Given the description of an element on the screen output the (x, y) to click on. 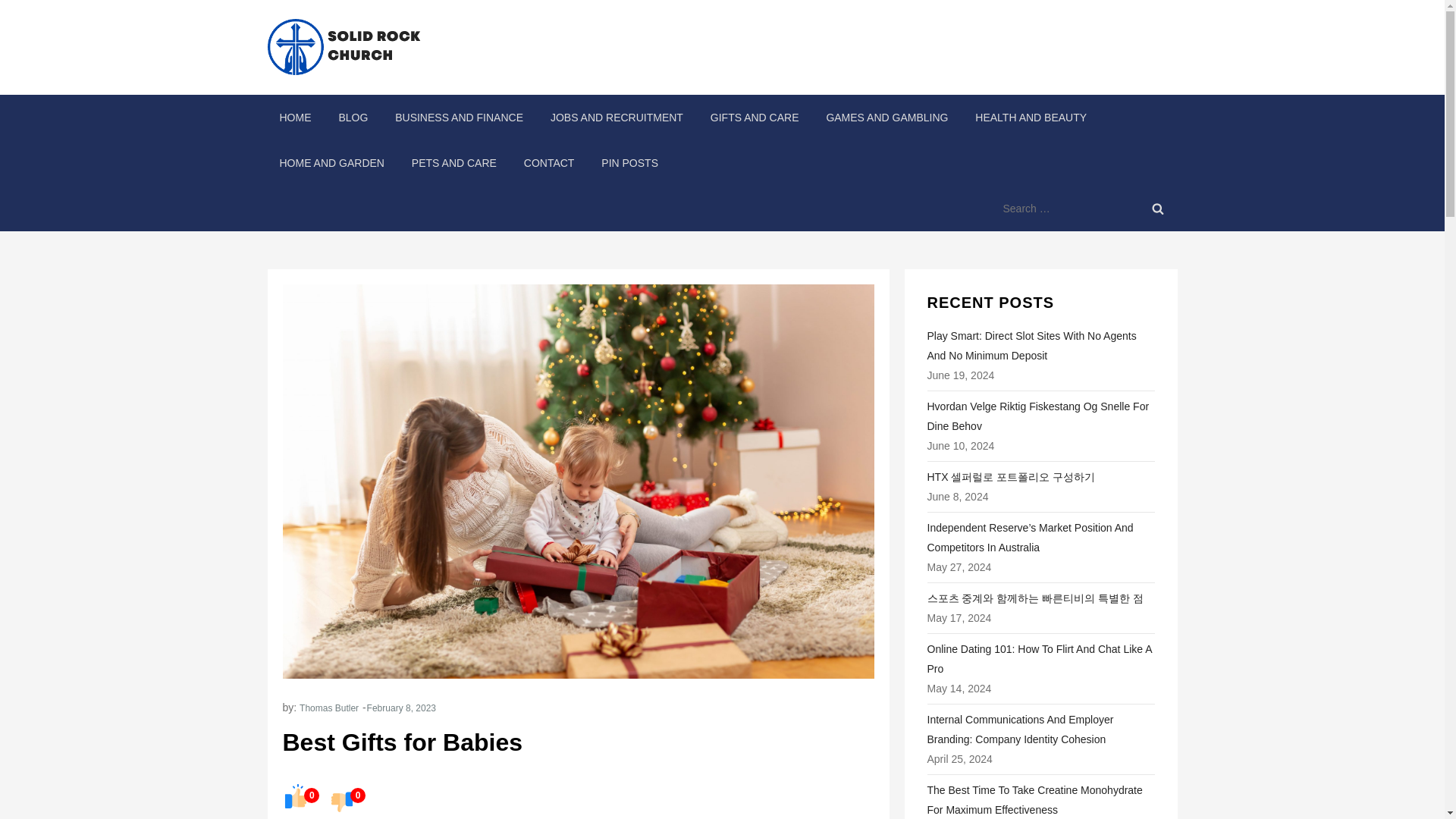
Thomas Butler (328, 707)
HOME AND GARDEN (331, 162)
BUSINESS AND FINANCE (458, 117)
Solid Rock Church (577, 60)
PETS AND CARE (453, 162)
Online Dating 101: How To Flirt And Chat Like A Pro (1040, 658)
HEALTH AND BEAUTY (1030, 117)
JOBS AND RECRUITMENT (616, 117)
GIFTS AND CARE (754, 117)
HOME (294, 117)
PIN POSTS (629, 162)
February 8, 2023 (400, 707)
Hvordan Velge Riktig Fiskestang Og Snelle For Dine Behov (1040, 415)
